Given the description of an element on the screen output the (x, y) to click on. 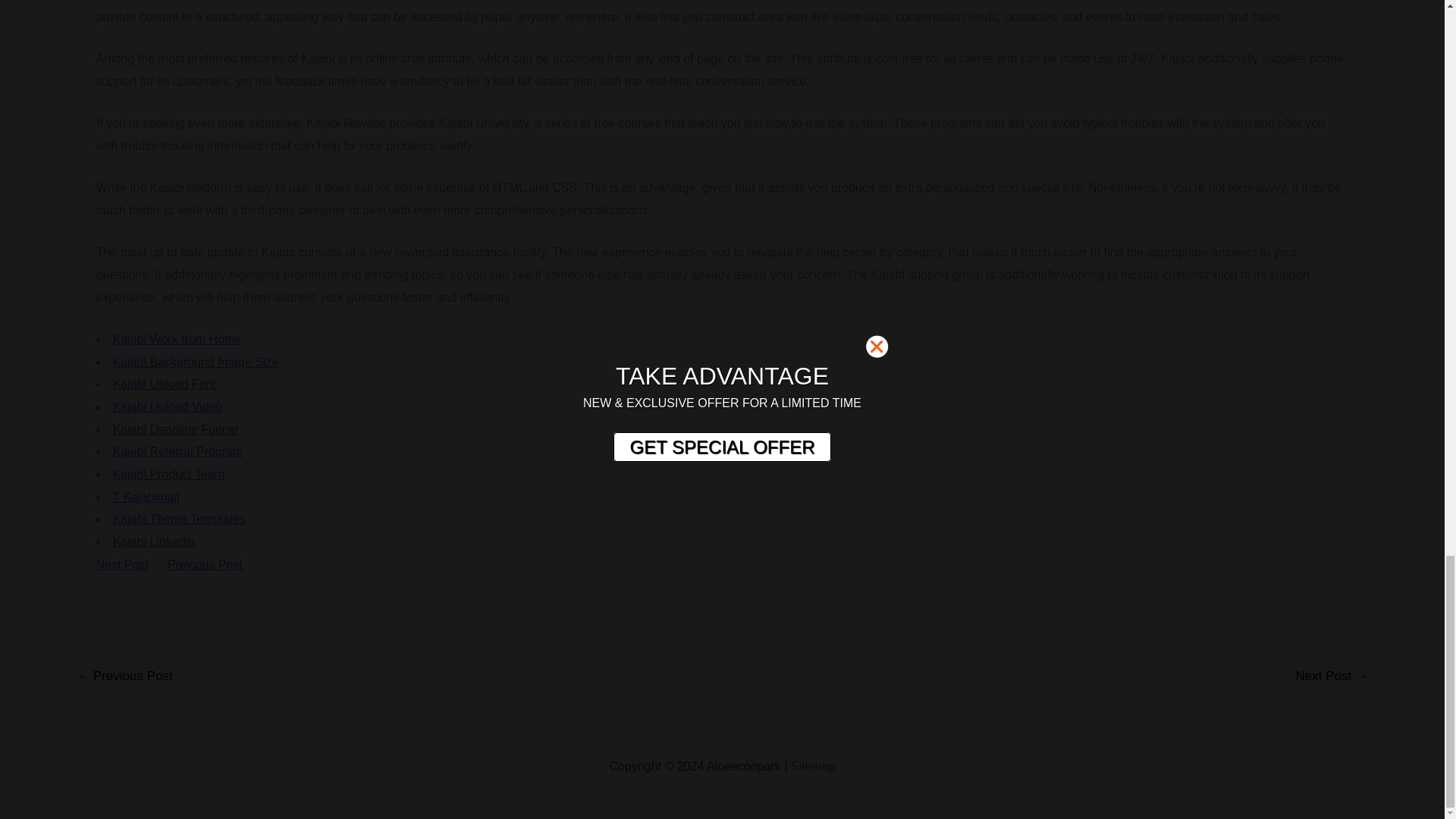
Kajabi Theme Templates (179, 518)
Kajabi Linkedin (154, 541)
Next Post (122, 563)
Kajabi Product Team (168, 473)
Kajabi Work from Home (177, 338)
Kajabi Background Image Size (196, 361)
Kajabi Upload Video (167, 406)
Kajabi Deadline Funnel (175, 429)
Kajabi Work from Home (177, 338)
Kajabi Linkedin (154, 541)
Kajabi Upload Font (164, 383)
Kajabi Deadline Funnel (175, 429)
Kajabi Referral Program (178, 451)
T Kajabimail (146, 496)
Kajabi Upload Video (167, 406)
